Given the description of an element on the screen output the (x, y) to click on. 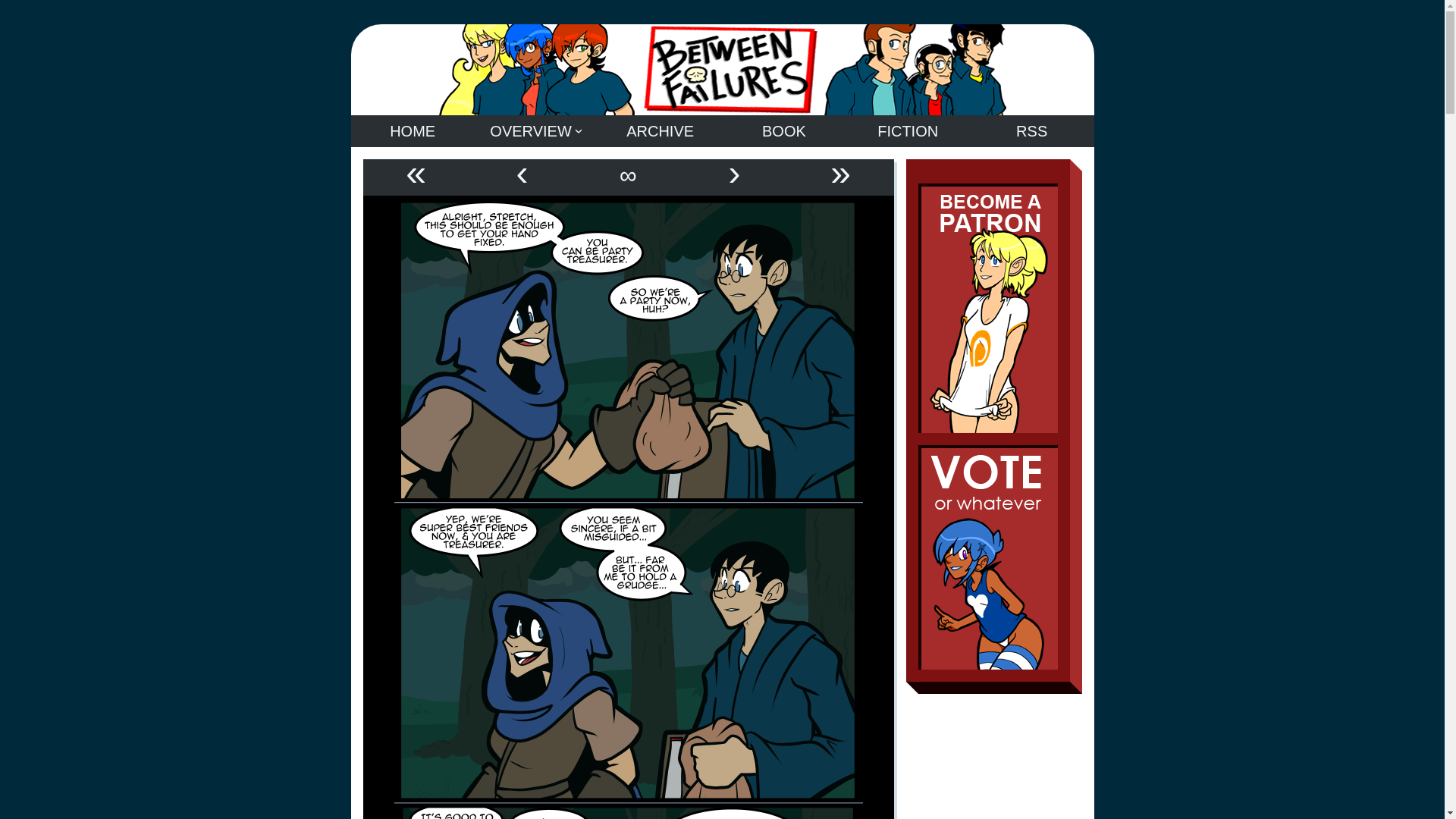
Between Failures (721, 69)
ARCHIVE (660, 131)
BOOK (783, 131)
Support Between Failures on Patreon (987, 311)
HOME (412, 131)
FICTION (907, 131)
RSS (1031, 131)
Vote of Between Failures on Top Web Comics (987, 560)
